Given the description of an element on the screen output the (x, y) to click on. 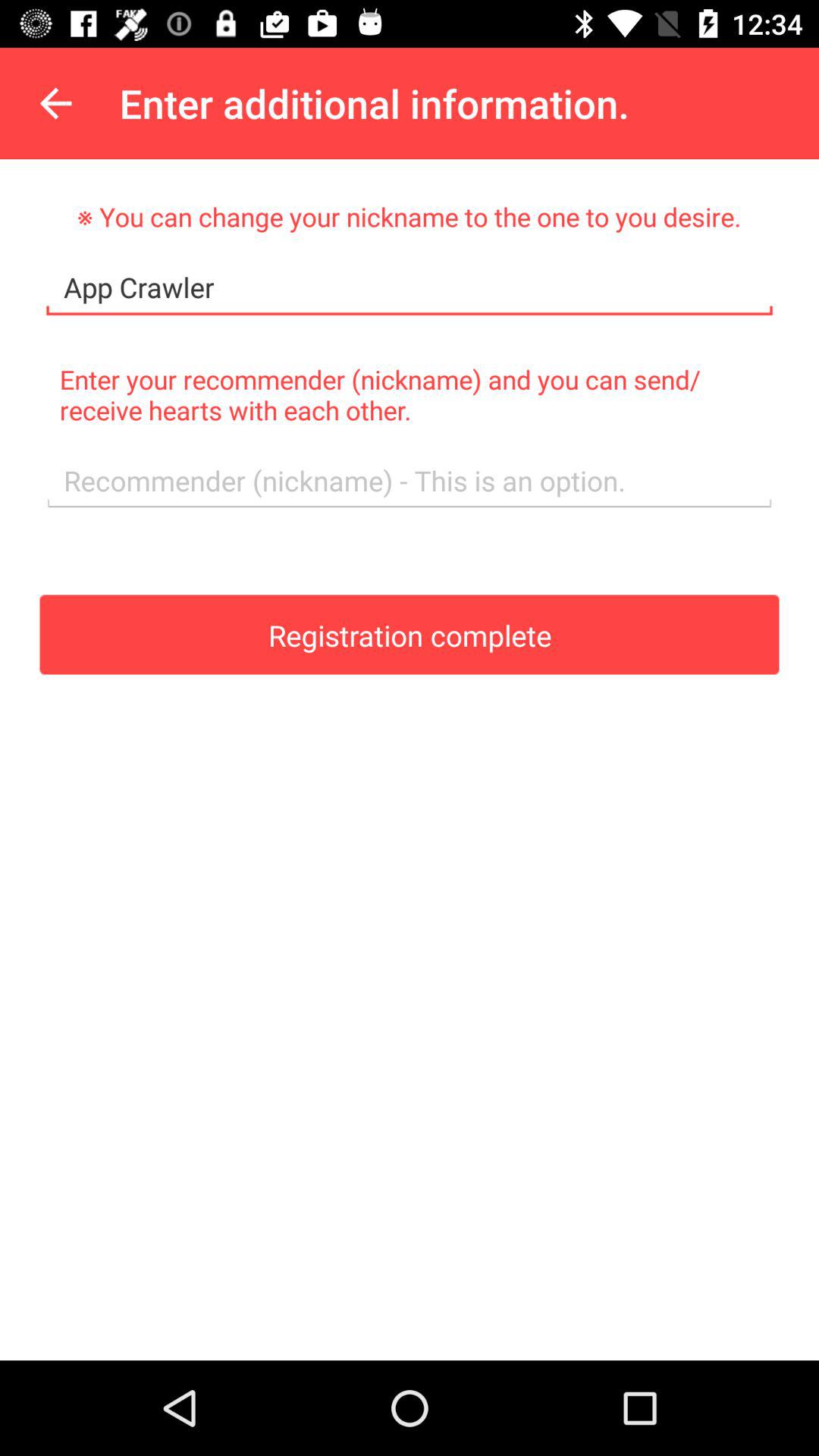
turn on the item above the you can change item (55, 103)
